Given the description of an element on the screen output the (x, y) to click on. 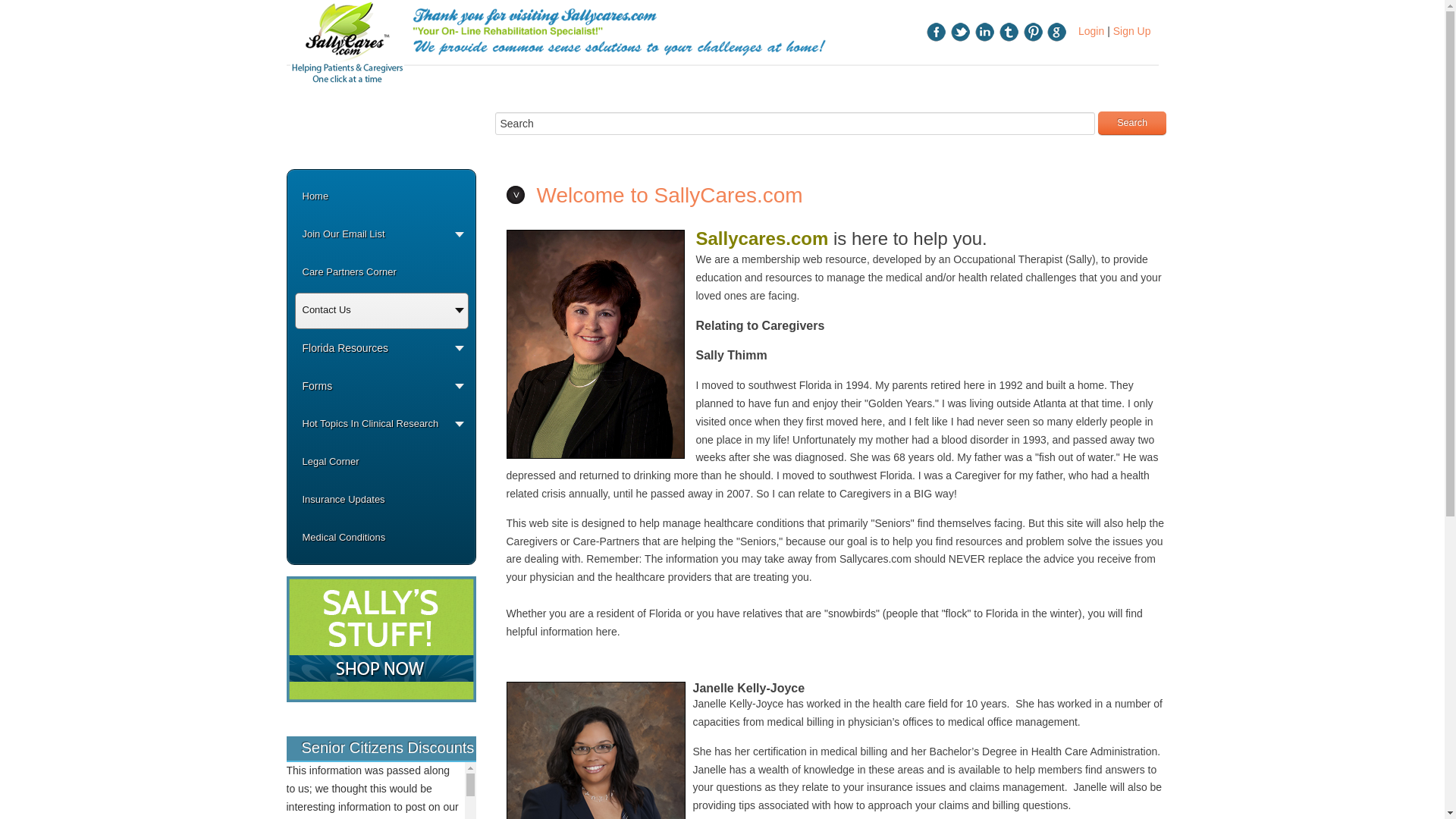
Medical Conditions (381, 542)
Contact Us (381, 315)
Login (1090, 30)
Welcome to SallyCares.com (670, 195)
Search (1131, 123)
Hot Topics In Clinical Research (381, 429)
Join Our Email List (381, 239)
Search (794, 123)
Insurance Updates (381, 504)
Care Partners Corner (381, 277)
